Given the description of an element on the screen output the (x, y) to click on. 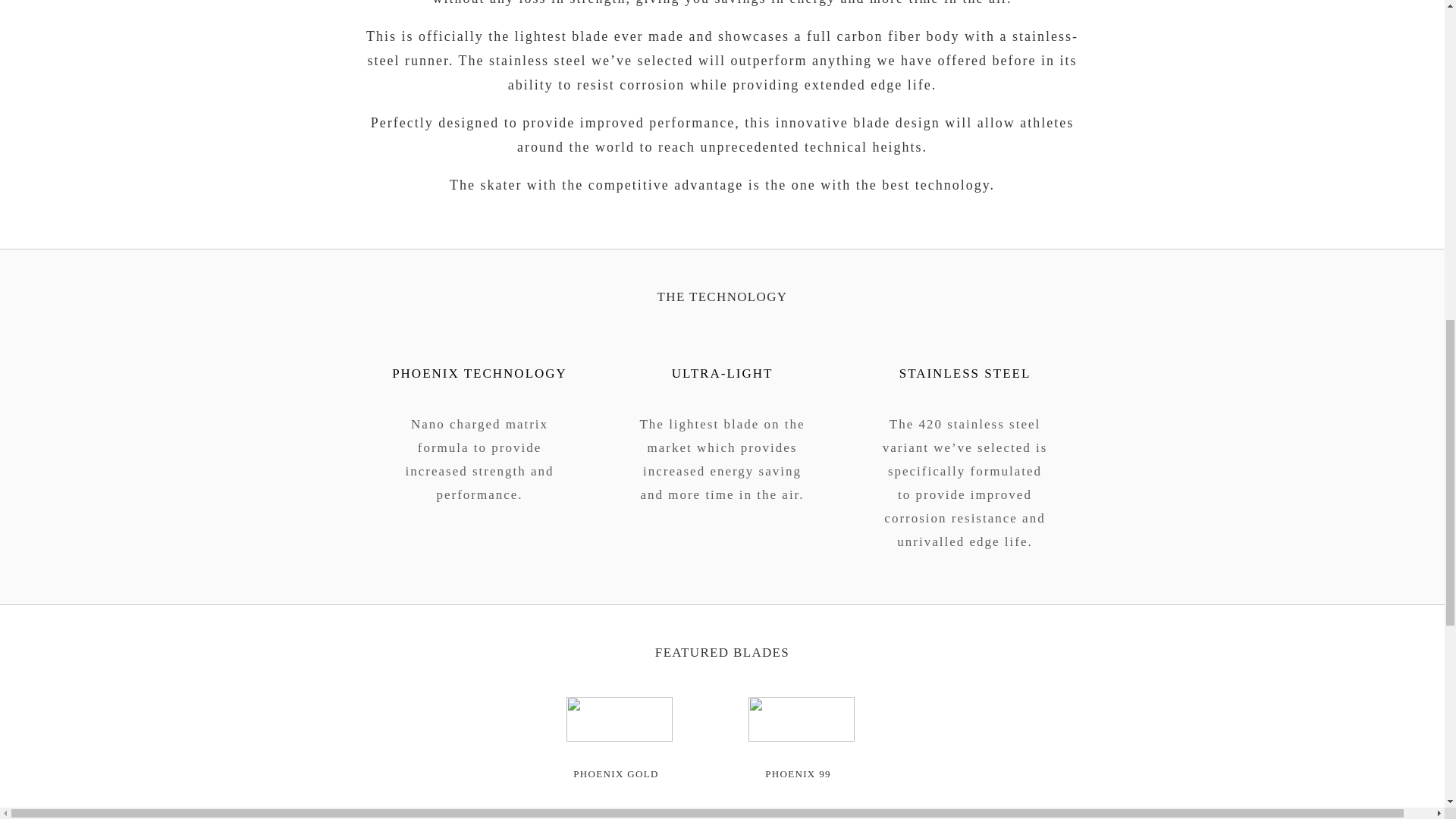
Phoenix Gold (615, 773)
PHOENIX 99 (797, 773)
Phoenix 99 (797, 773)
PHOENIX GOLD (615, 773)
